Given the description of an element on the screen output the (x, y) to click on. 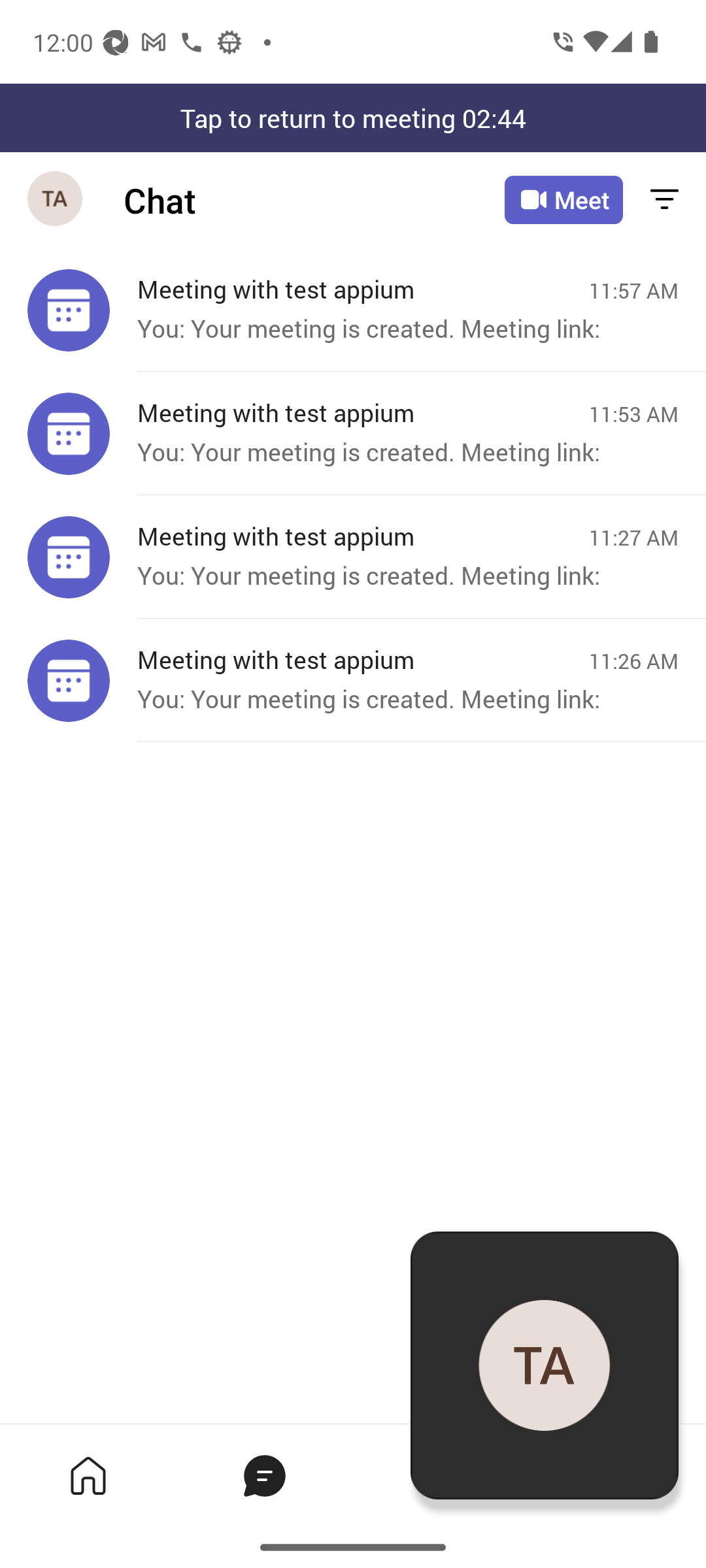
Tap to return to meeting 02:44 (353, 117)
Filter chat messages (664, 199)
Navigation (56, 199)
Meet Meet now or join with an ID (563, 199)
Home tab,1 of 4, not selected (88, 1475)
Chat tab, 2 of 4 (264, 1475)
